Given the description of an element on the screen output the (x, y) to click on. 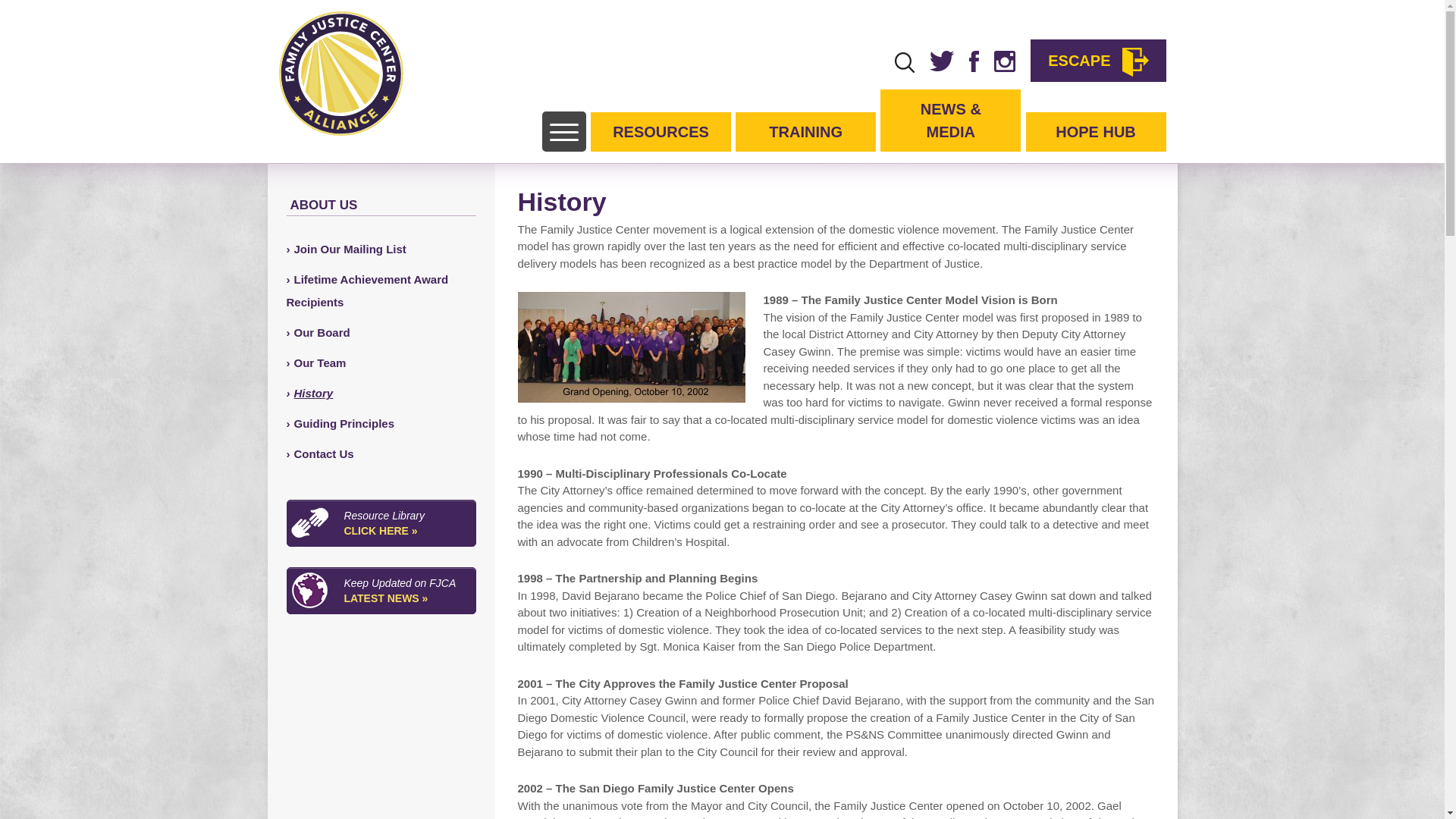
Contact Us (319, 453)
Family Justice Center Alliance (341, 73)
HOPE HUB (1095, 131)
Our Board (318, 332)
RESOURCES (660, 131)
Social icon (1004, 61)
TRAINING (805, 131)
About Us (322, 205)
Join Our Mailing List (346, 248)
Social icon (973, 61)
Contact Us (319, 453)
Our Team (316, 362)
ESCAPE (1098, 60)
History (309, 392)
